Given the description of an element on the screen output the (x, y) to click on. 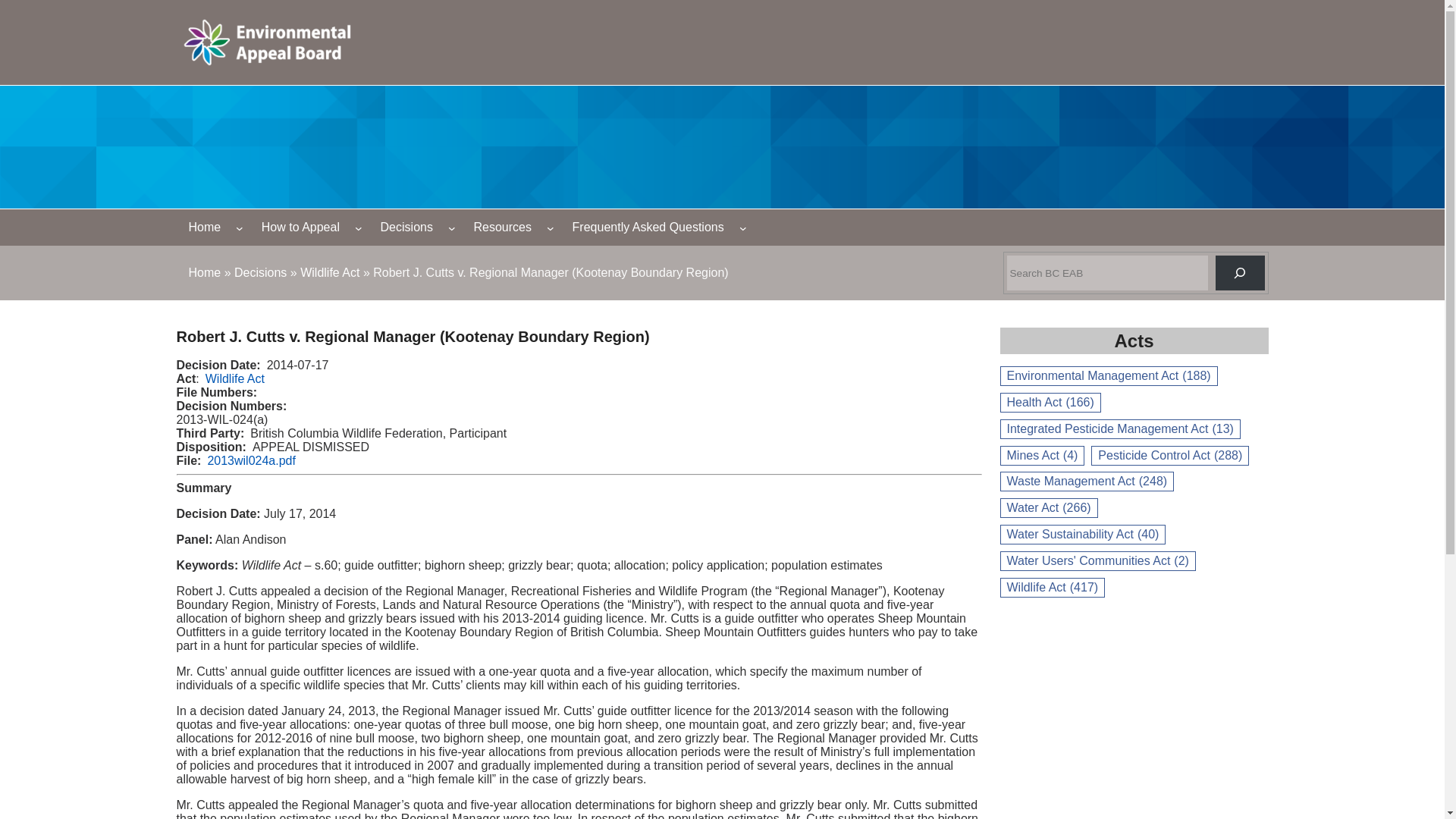
Resources (502, 227)
2013wil024a.pdf (250, 460)
Home (204, 272)
Frequently Asked Questions (648, 227)
Home (204, 227)
How to Appeal (300, 227)
Wildlife Act (234, 378)
Wildlife Act (329, 272)
Decisions (406, 227)
Decisions (260, 272)
Decisions (260, 272)
Home (204, 272)
Wildlife Act (329, 272)
